Given the description of an element on the screen output the (x, y) to click on. 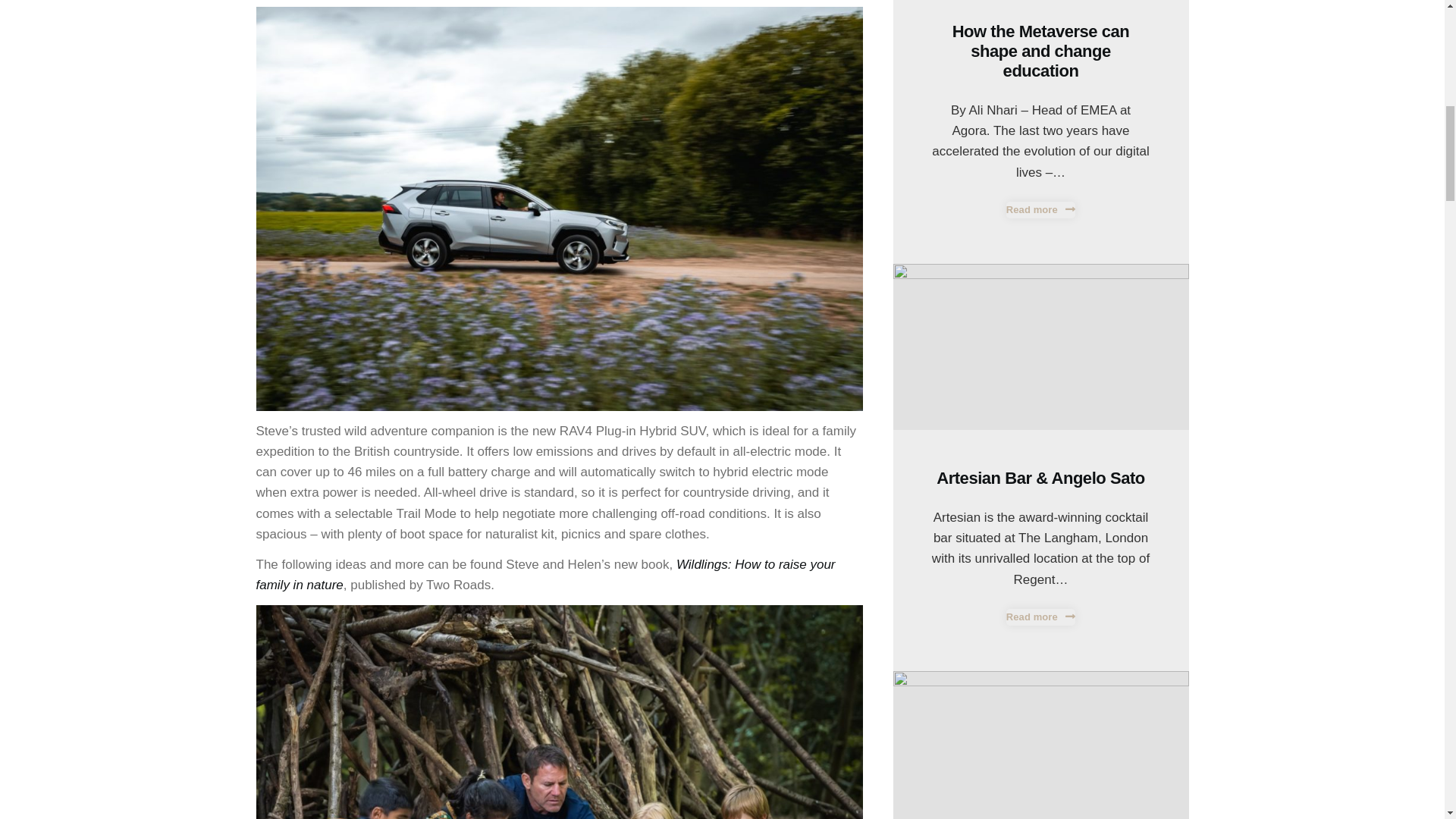
Read more (1040, 209)
Read more (1040, 617)
How the Metaverse can shape and change education (1040, 51)
